Given the description of an element on the screen output the (x, y) to click on. 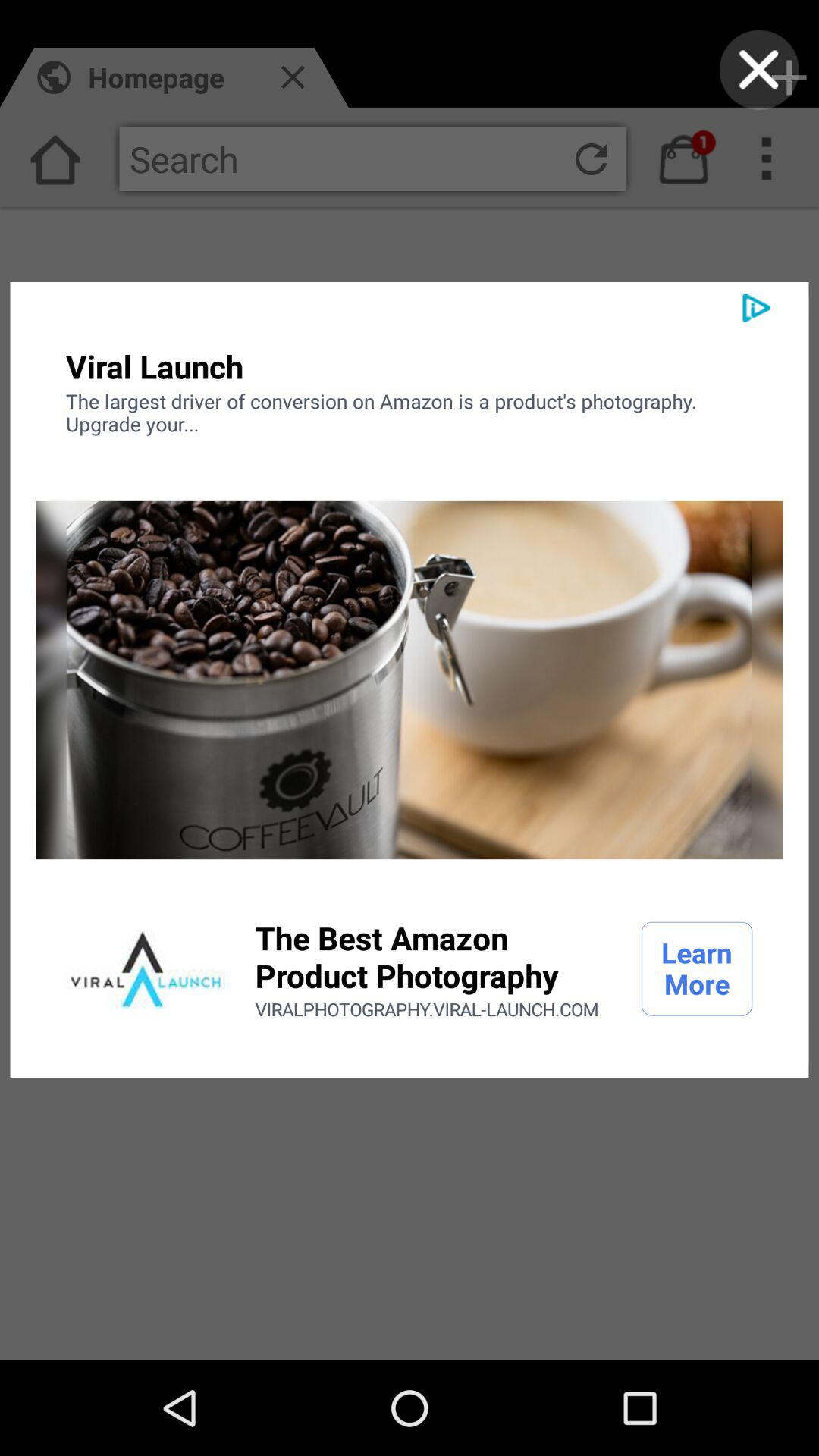
view more information on viral launch (145, 968)
